Given the description of an element on the screen output the (x, y) to click on. 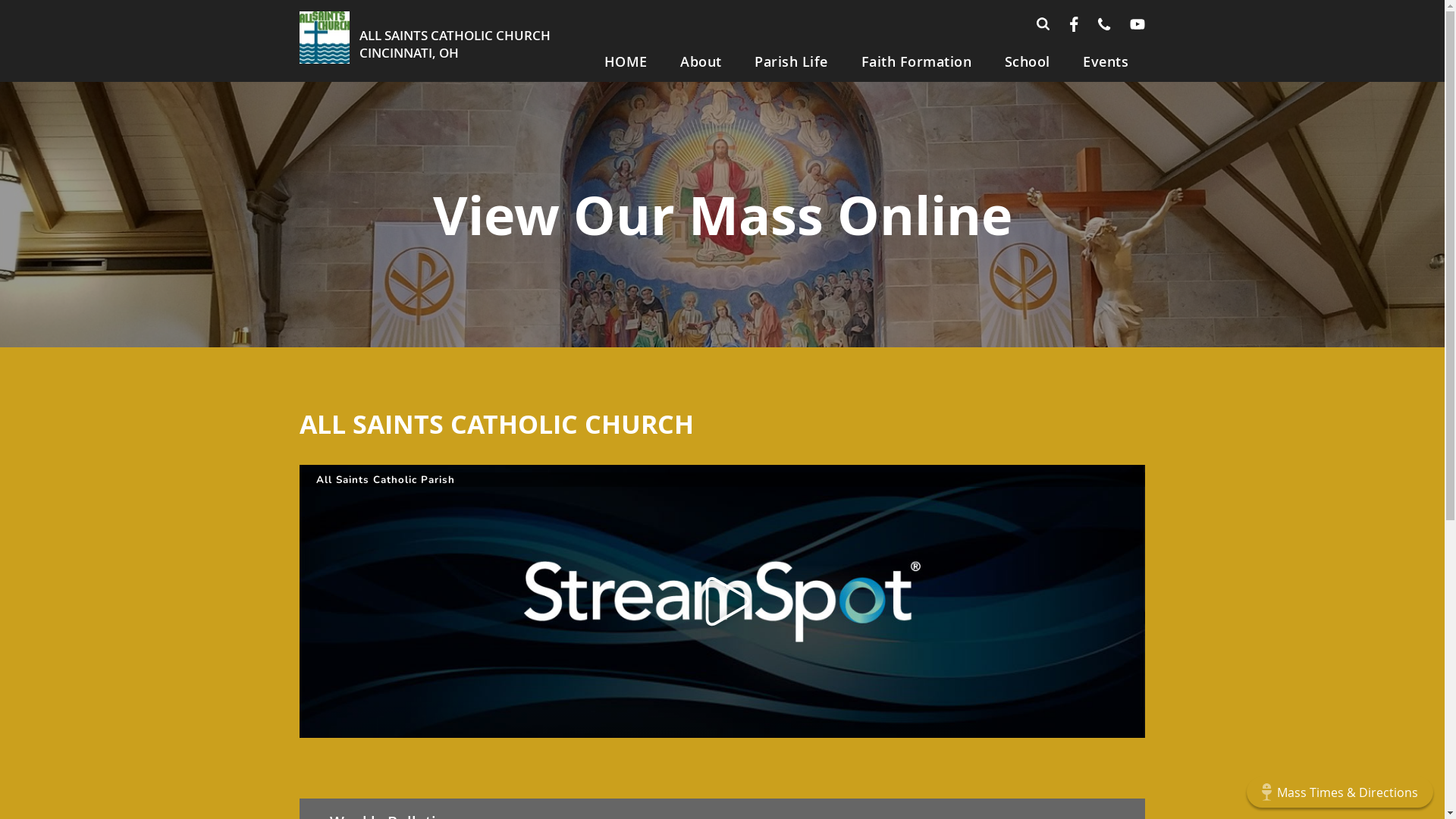
Events Element type: text (1105, 61)
School Element type: text (1027, 61)
Faith Formation Element type: text (916, 61)
About Element type: text (701, 61)
YouTube Element type: text (1137, 23)
CINCINNATI, OH Element type: text (408, 52)
Parish Life Element type: text (791, 61)
ALL SAINTS CATHOLIC CHURCH Element type: text (454, 34)
Facebook Element type: text (1074, 23)
HOME Element type: text (625, 61)
Phone Element type: text (1103, 23)
